Given the description of an element on the screen output the (x, y) to click on. 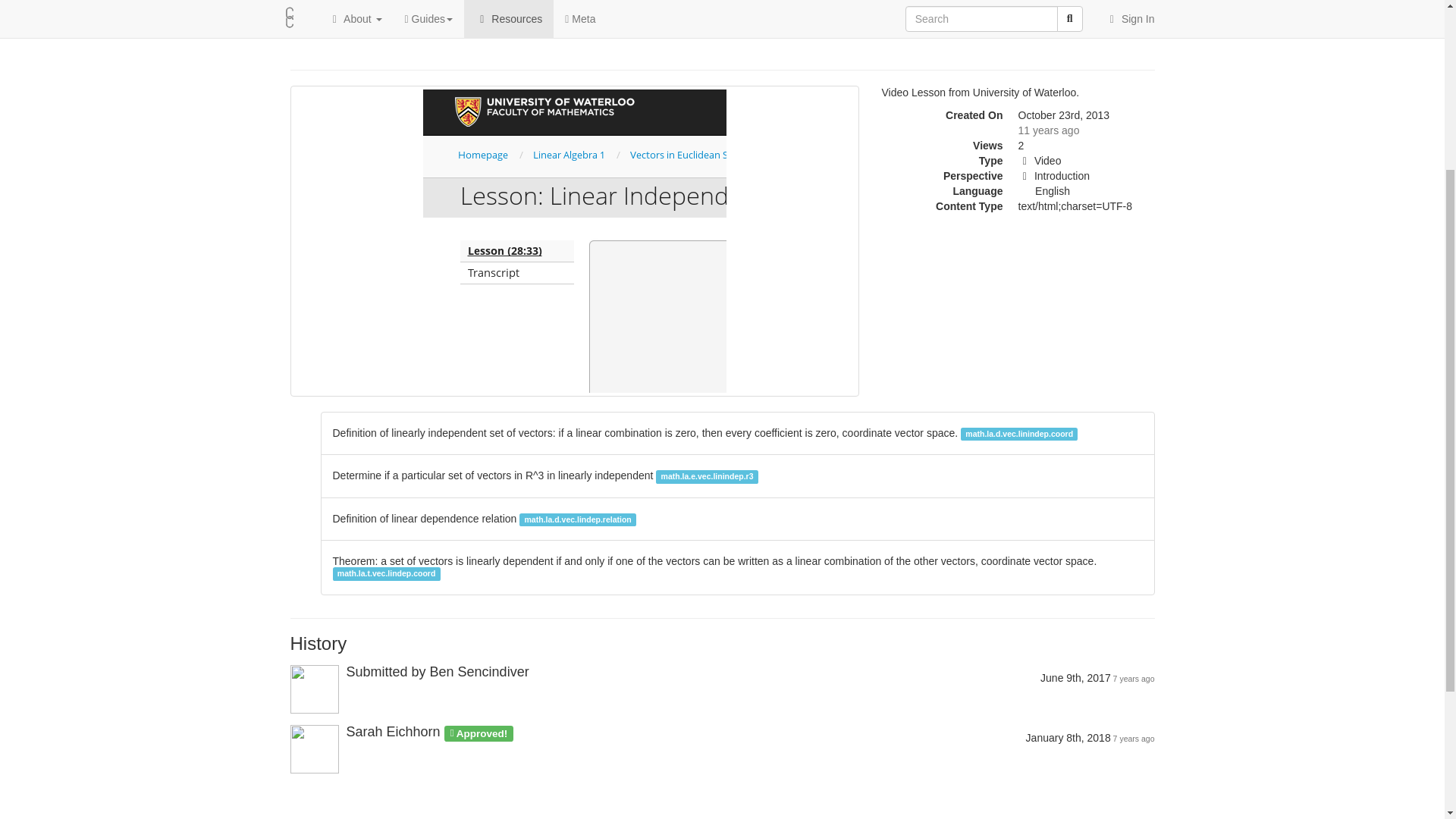
math.la.d.vec.lindep.relation (577, 518)
math.la.t.vec.lindep.coord (385, 573)
math.la.d.vec.linindep.coord (1018, 432)
math.la.e.vec.linindep.r3 (707, 475)
